Given the description of an element on the screen output the (x, y) to click on. 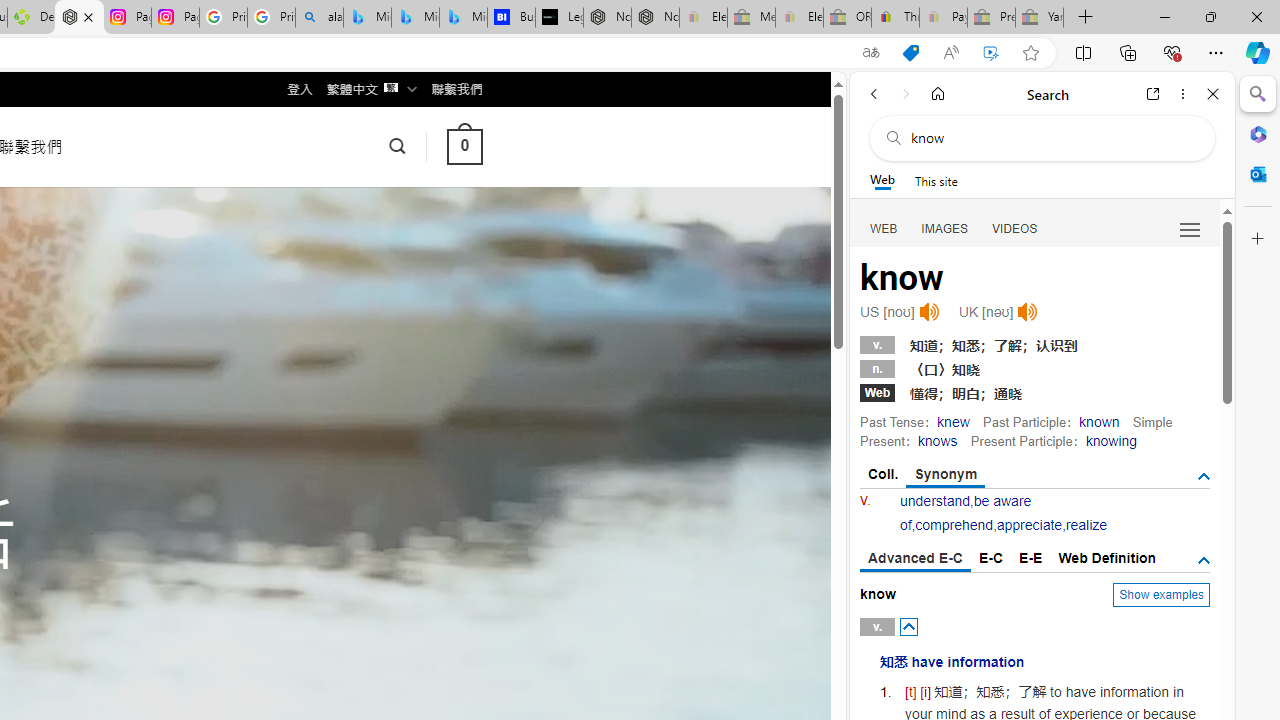
E-C (991, 557)
appreciate (1028, 524)
Microsoft Bing Travel - Shangri-La Hotel Bangkok (463, 17)
E-E (1030, 557)
Web Definition (1106, 557)
knowing (1110, 440)
Threats and offensive language policy | eBay (895, 17)
understand (935, 501)
